Given the description of an element on the screen output the (x, y) to click on. 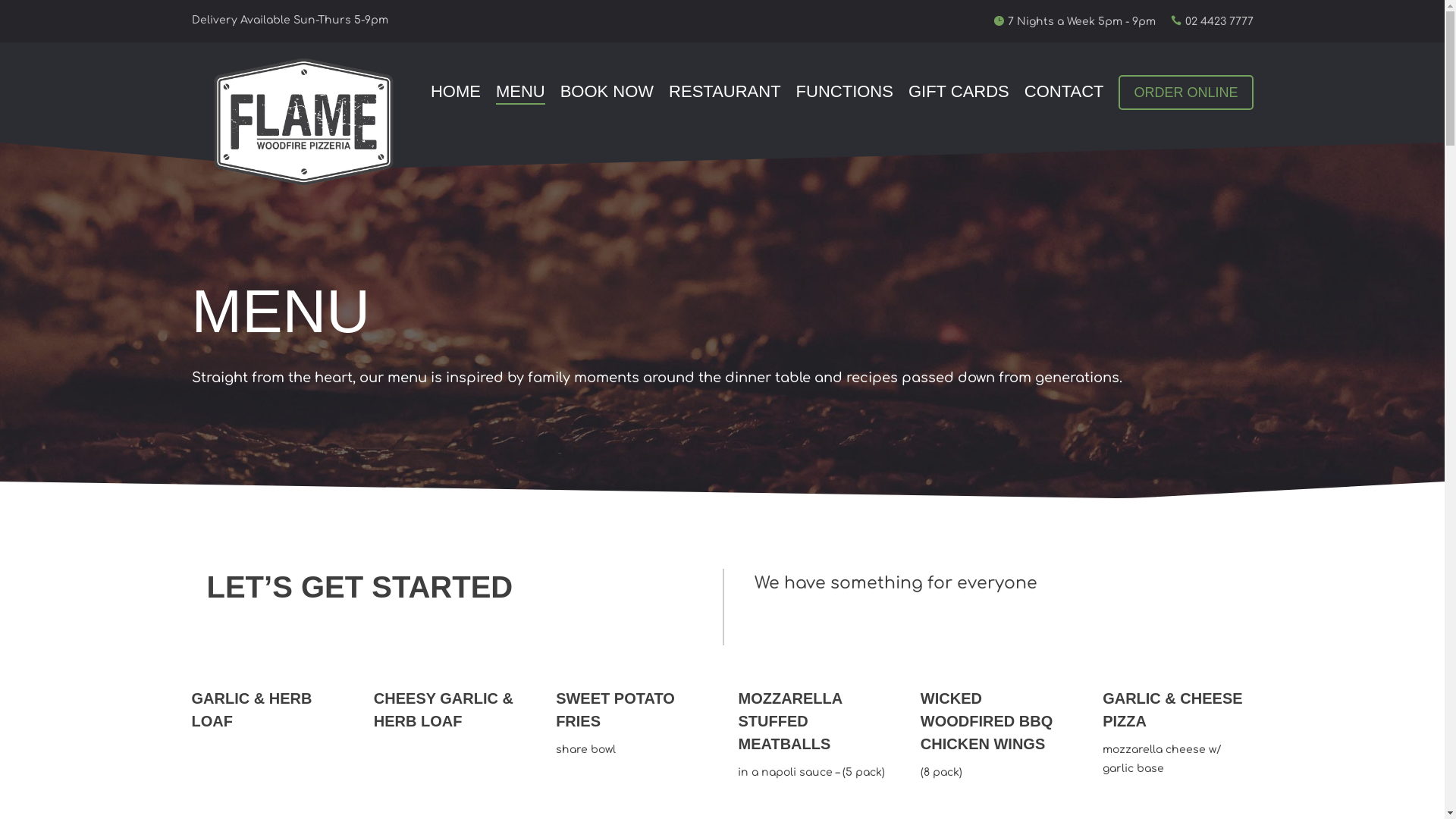
MENU Element type: text (520, 92)
BOOK NOW Element type: text (606, 92)
GIFT CARDS Element type: text (958, 92)
02 4423 7777 Element type: text (1218, 21)
FUNCTIONS Element type: text (844, 92)
RESTAURANT Element type: text (724, 92)
ORDER ONLINE Element type: text (1185, 92)
CONTACT Element type: text (1064, 92)
HOME Element type: text (455, 92)
